Given the description of an element on the screen output the (x, y) to click on. 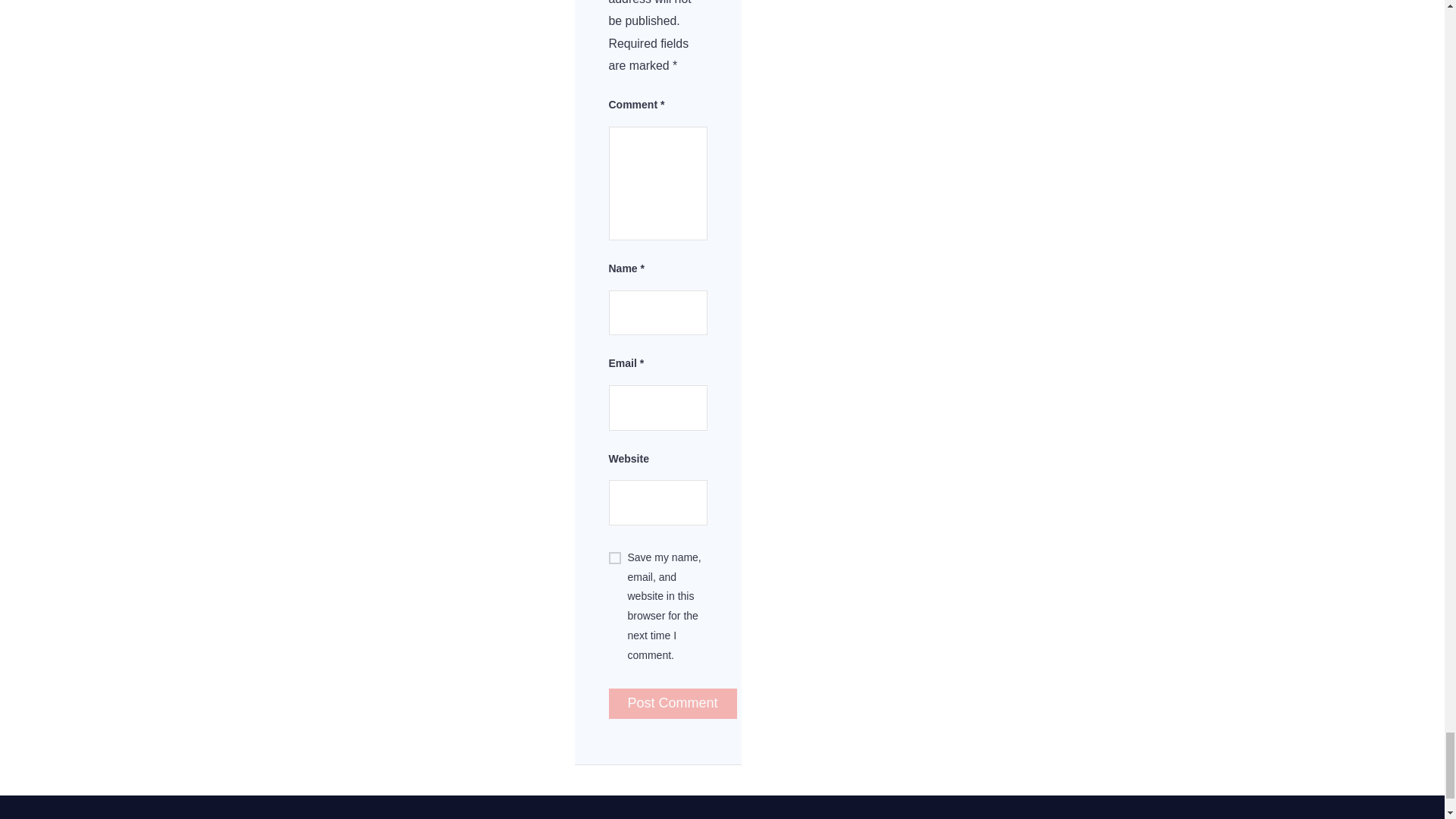
Post Comment (672, 703)
